Given the description of an element on the screen output the (x, y) to click on. 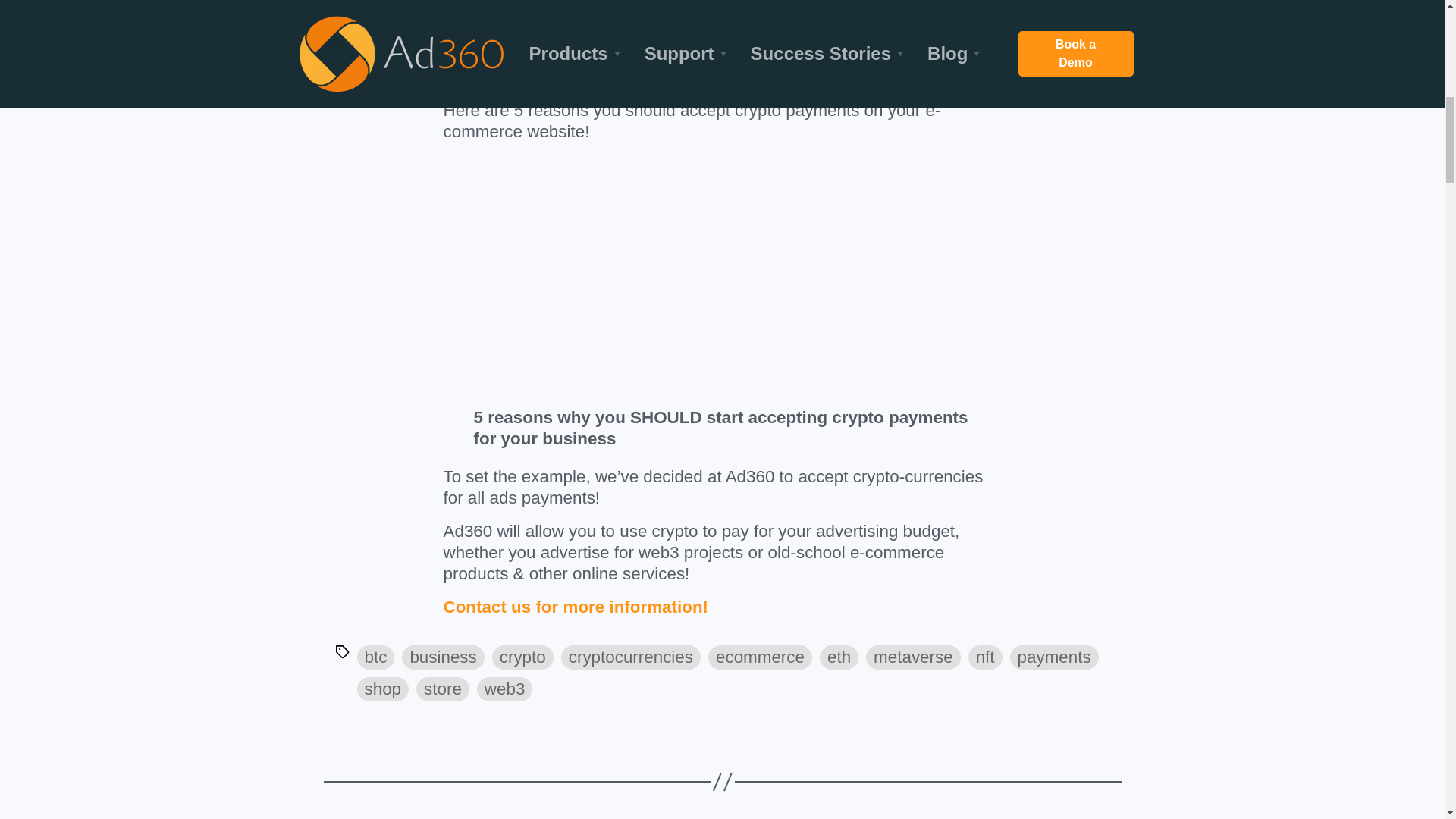
business (442, 657)
eth (839, 657)
cryptocurrencies (630, 657)
ecommerce (759, 657)
crypto (522, 657)
metaverse (913, 657)
Contact us for more information! (574, 606)
nft (985, 657)
btc (375, 657)
